Given the description of an element on the screen output the (x, y) to click on. 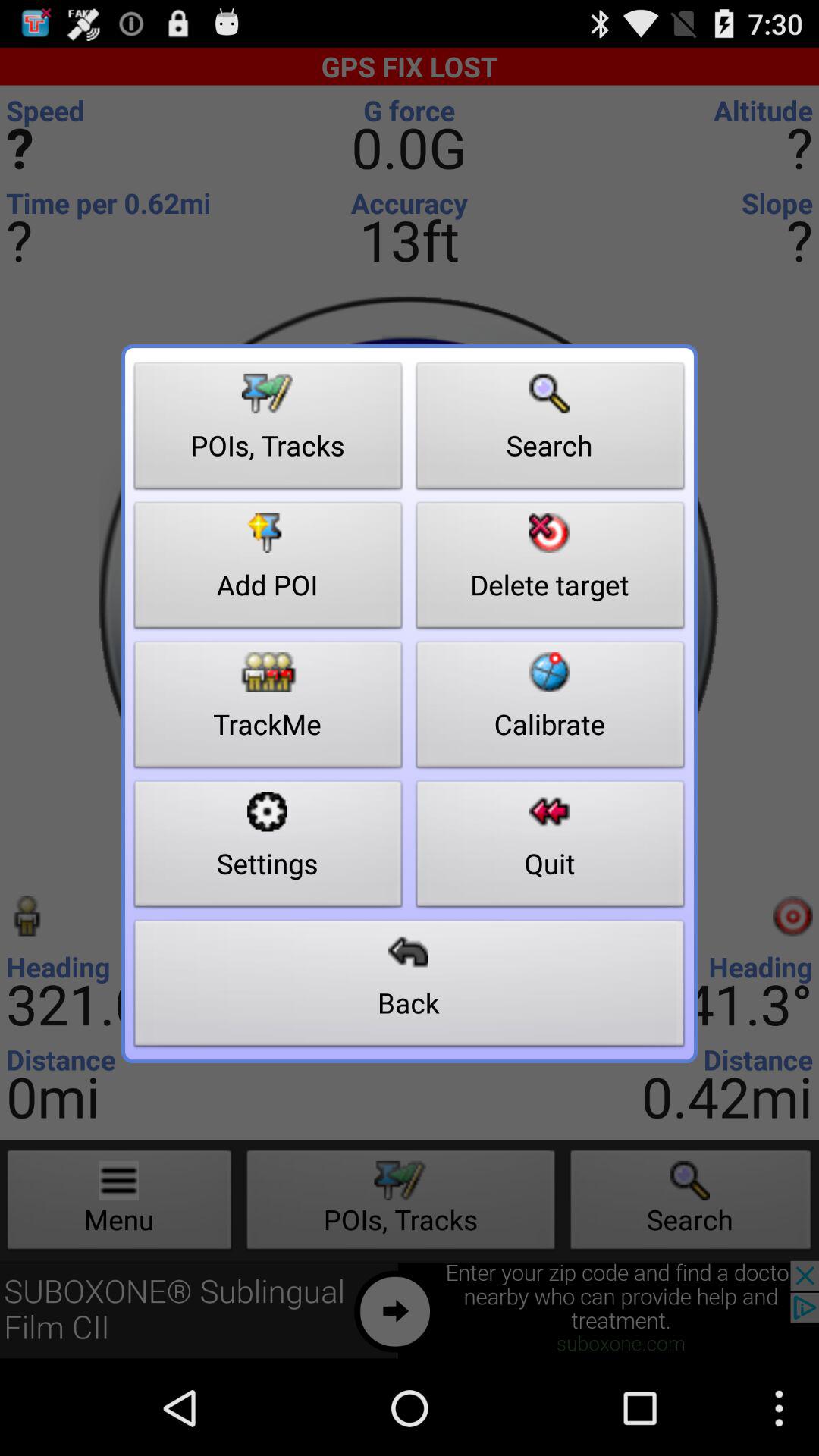
choose icon below pois, tracks button (268, 569)
